Given the description of an element on the screen output the (x, y) to click on. 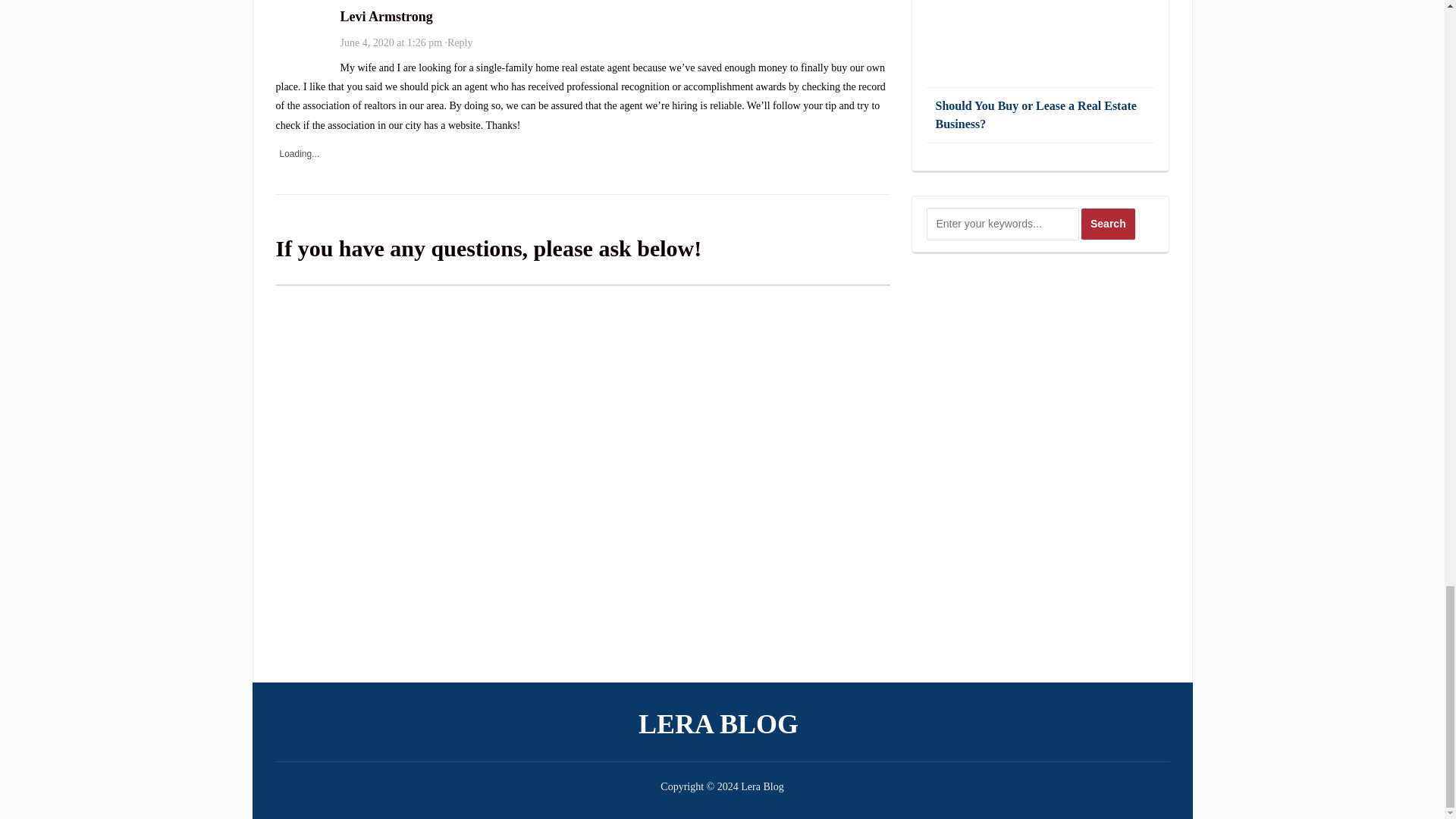
Search (1108, 223)
Search (1108, 223)
